Given the description of an element on the screen output the (x, y) to click on. 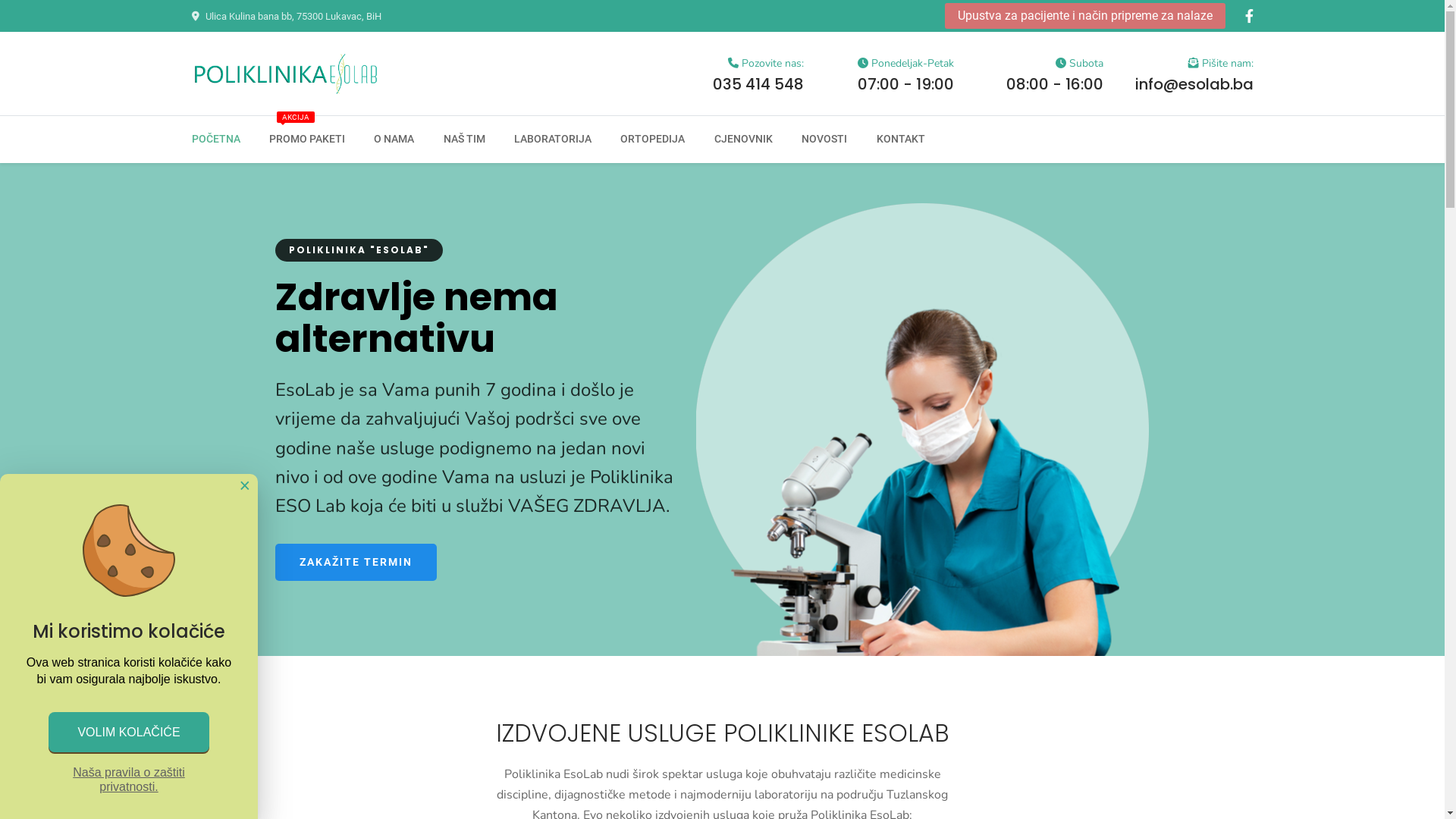
Facebook Element type: hover (1249, 16)
ORTOPEDIJA Element type: text (652, 139)
PROMO PAKETI
AKCIJA Element type: text (306, 139)
LABORATORIJA Element type: text (552, 139)
NOVOSTI Element type: text (824, 139)
KONTAKT Element type: text (899, 139)
POLIKLINIKA "ESOLAB" Element type: text (358, 249)
CJENOVNIK Element type: text (743, 139)
O NAMA Element type: text (393, 139)
